Given the description of an element on the screen output the (x, y) to click on. 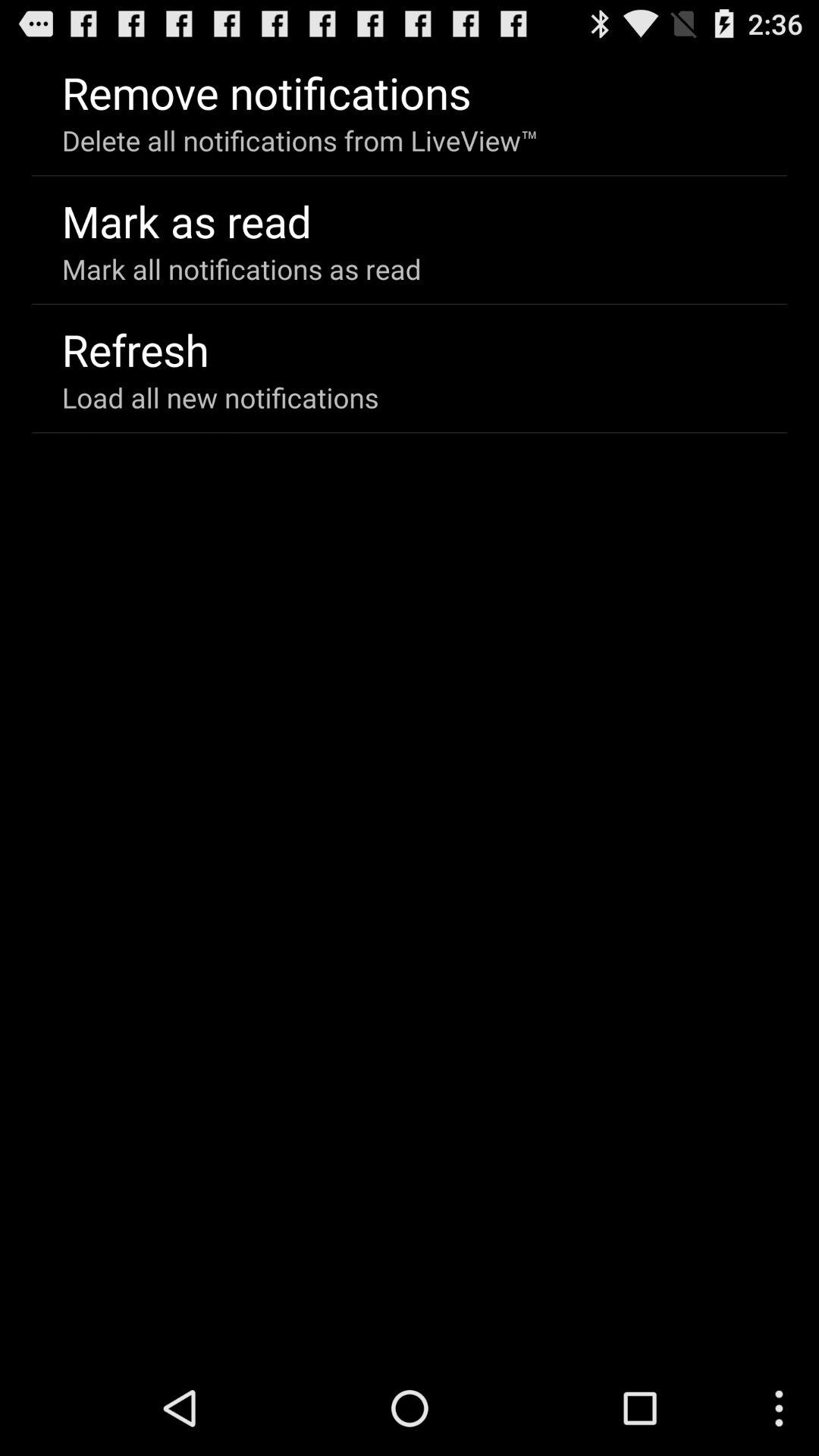
tap refresh (135, 349)
